Given the description of an element on the screen output the (x, y) to click on. 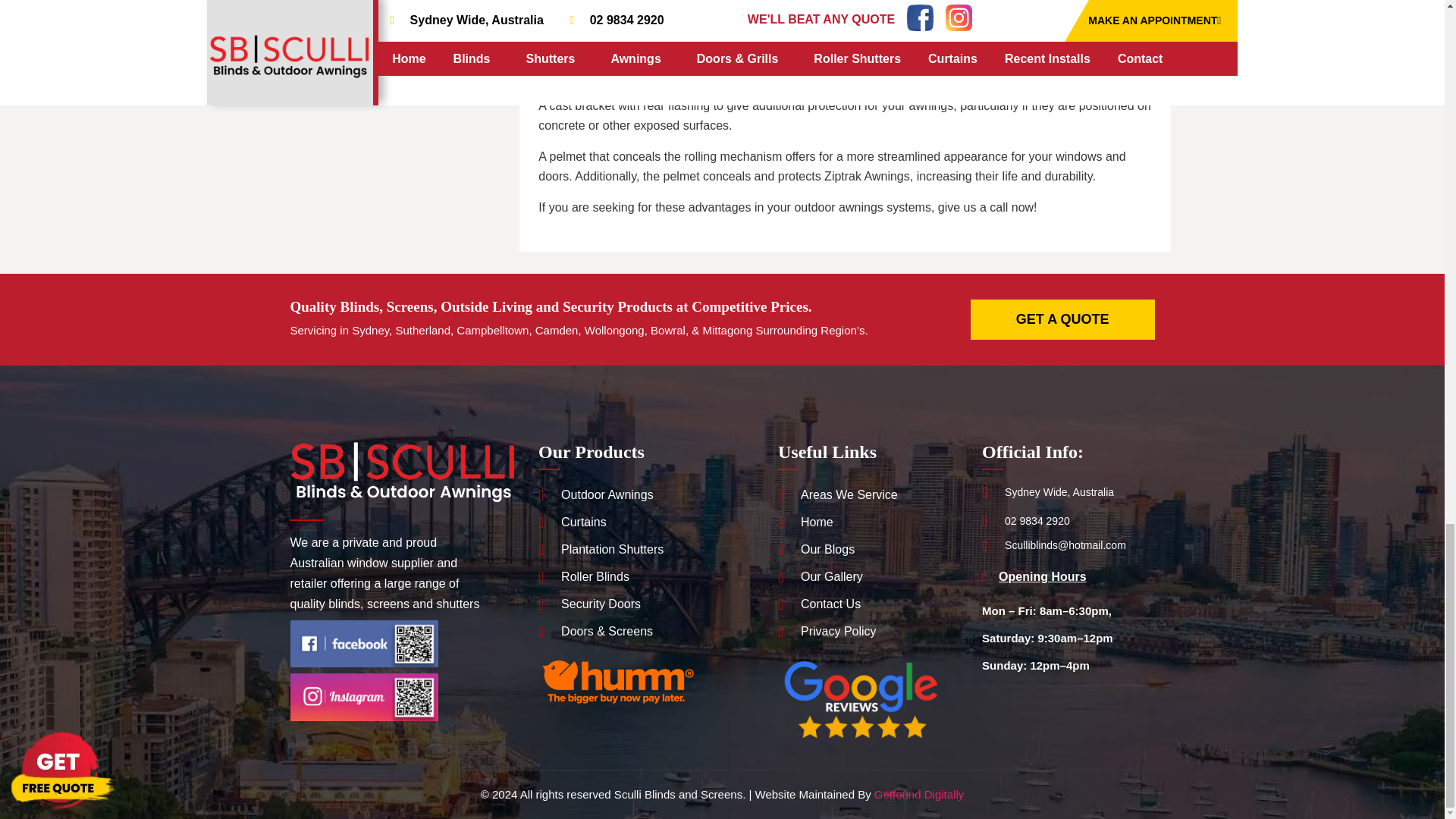
humm-logo (617, 681)
